Given the description of an element on the screen output the (x, y) to click on. 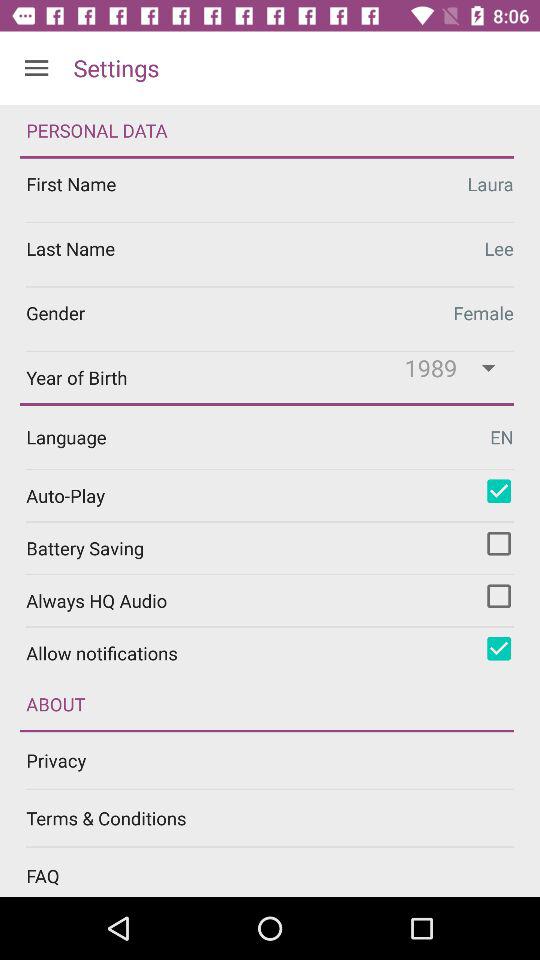
enter last name field (270, 254)
